Given the description of an element on the screen output the (x, y) to click on. 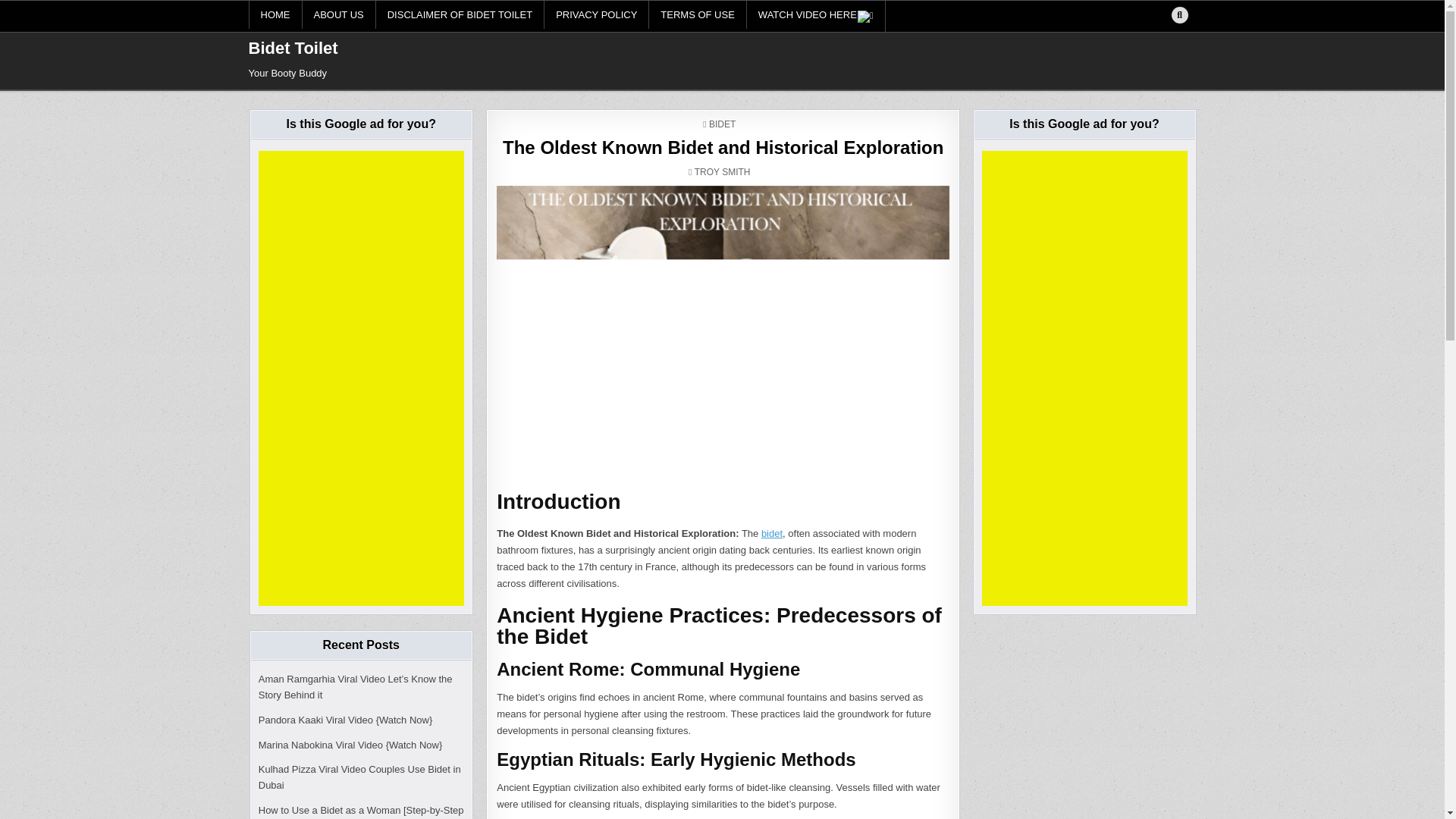
DISCLAIMER OF BIDET TOILET (459, 14)
The Oldest Known Bidet and Historical Exploration (722, 147)
TROY SMITH (722, 171)
Kulhad Pizza Viral Video Couples Use Bidet in Dubai (360, 777)
bidet (772, 532)
Bidet Toilet (292, 47)
PRIVACY POLICY (596, 14)
ABOUT US (338, 14)
TERMS OF USE (697, 14)
